Given the description of an element on the screen output the (x, y) to click on. 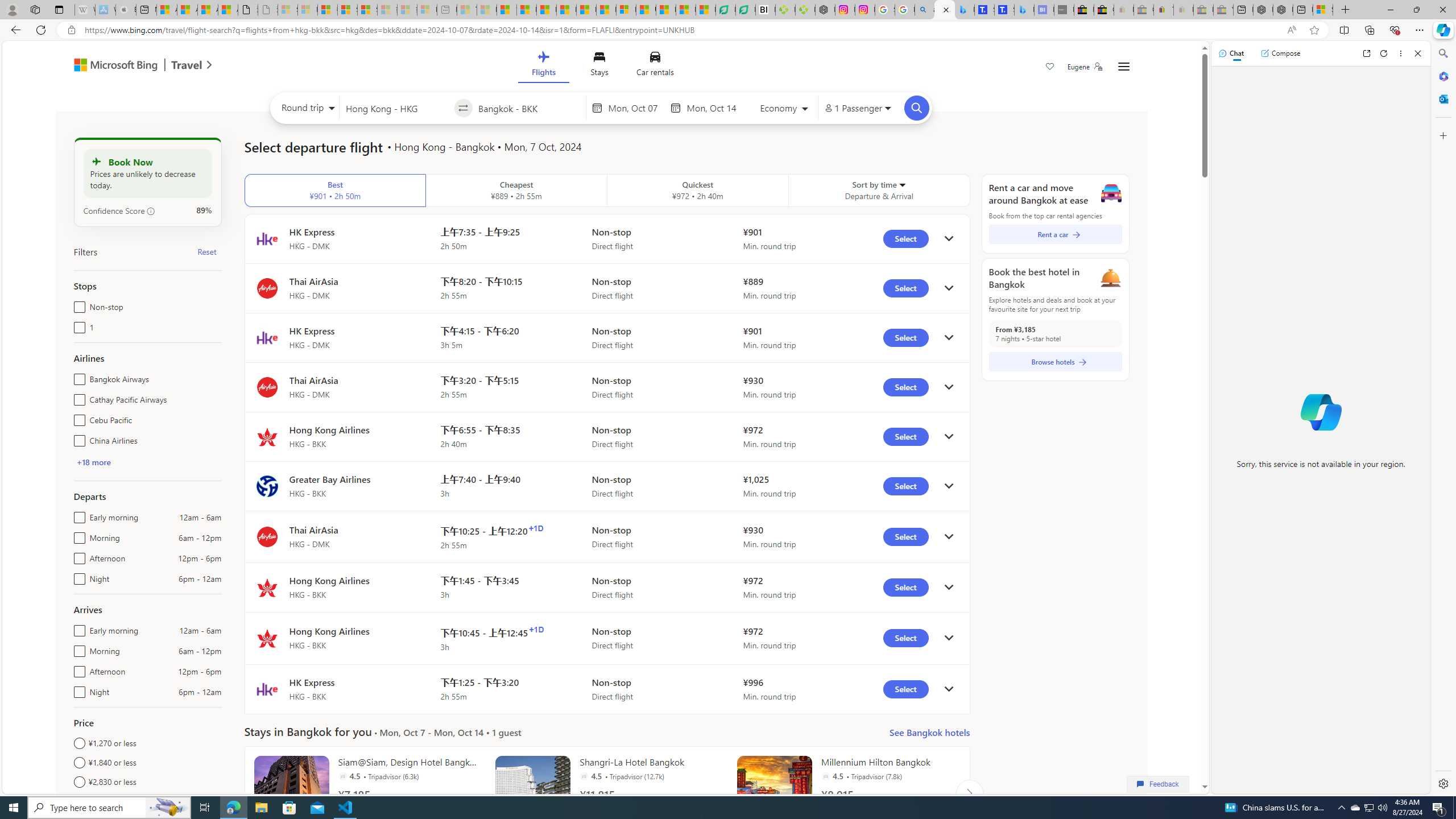
Start Date (636, 107)
Info tooltip (151, 211)
Reset (206, 251)
Payments Terms of Use | eBay.com - Sleeping (1183, 9)
Buy iPad - Apple - Sleeping (125, 9)
Drinking tea every day is proven to delay biological aging (565, 9)
